Given the description of an element on the screen output the (x, y) to click on. 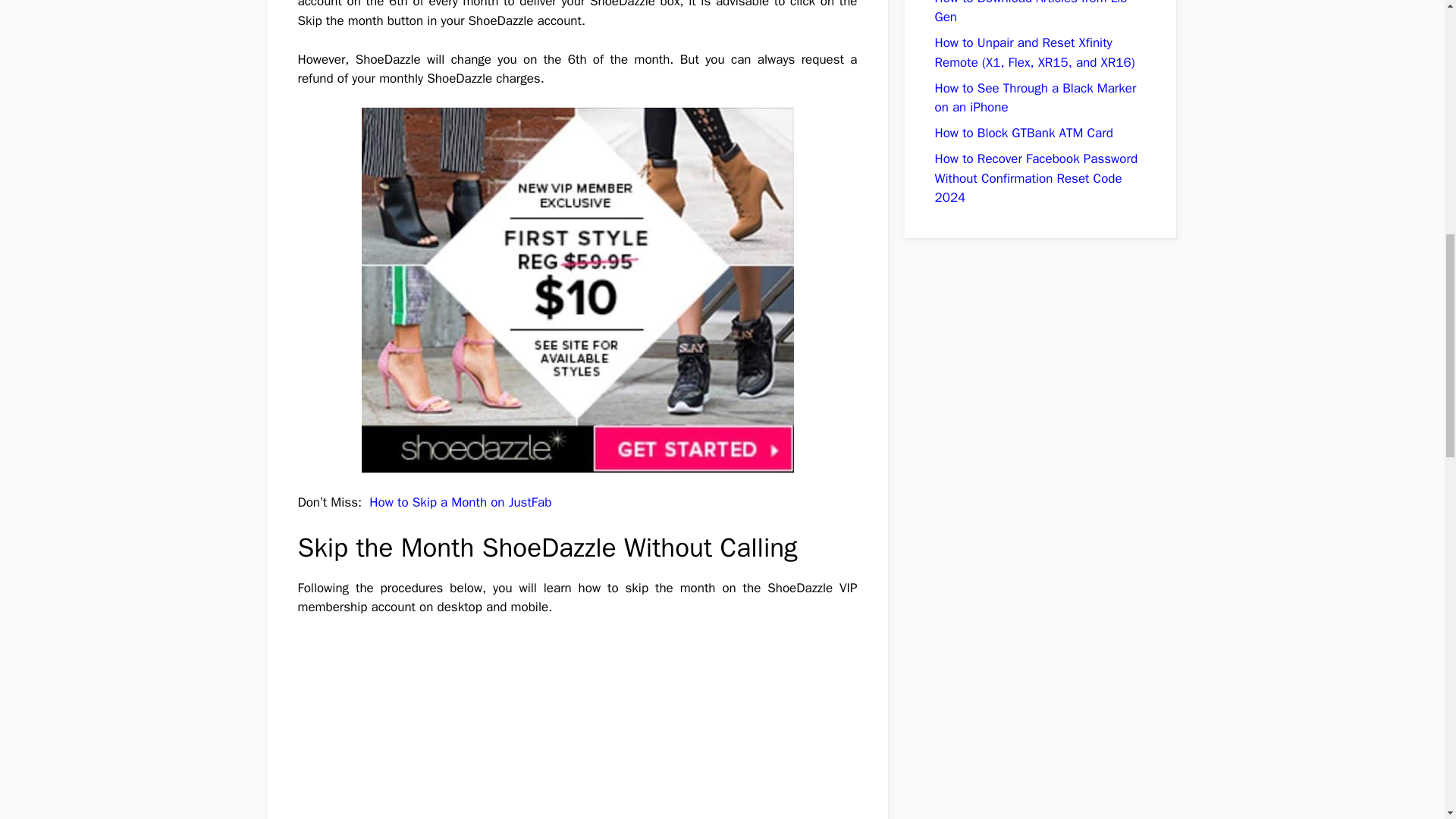
Scroll back to top (1406, 720)
How to Block GTBank ATM Card (1023, 132)
How to Skip a Month on JustFab (460, 502)
How to See Through a Black Marker on an iPhone (1034, 98)
How to Download Articles from Lib Gen (1030, 12)
